Given the description of an element on the screen output the (x, y) to click on. 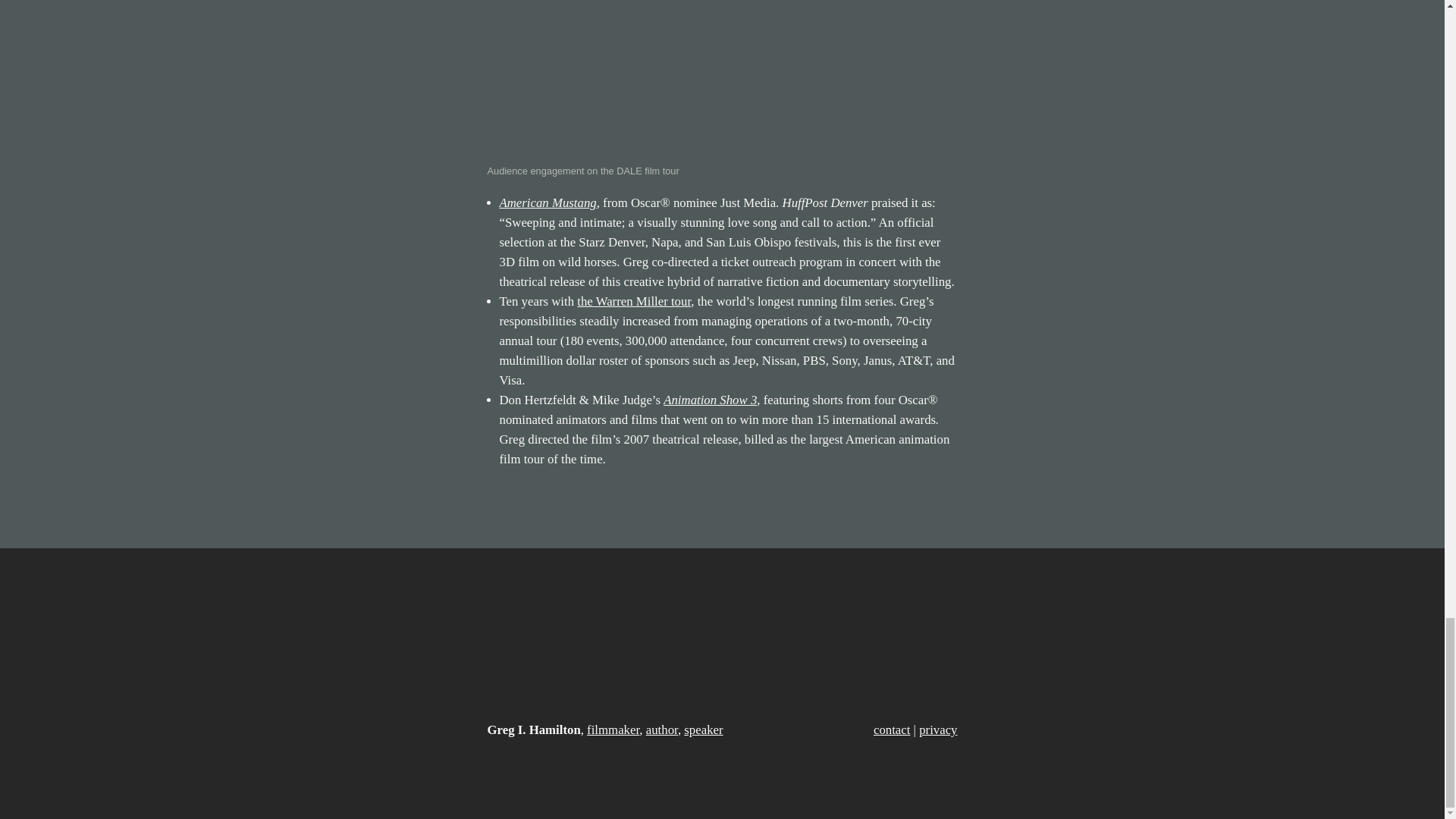
speaker (703, 729)
author (662, 729)
filmmaker (612, 729)
Animation Show 3 (710, 400)
the Warren Miller tour (633, 301)
American Mustang (547, 202)
contact (891, 729)
privacy (937, 729)
